Given the description of an element on the screen output the (x, y) to click on. 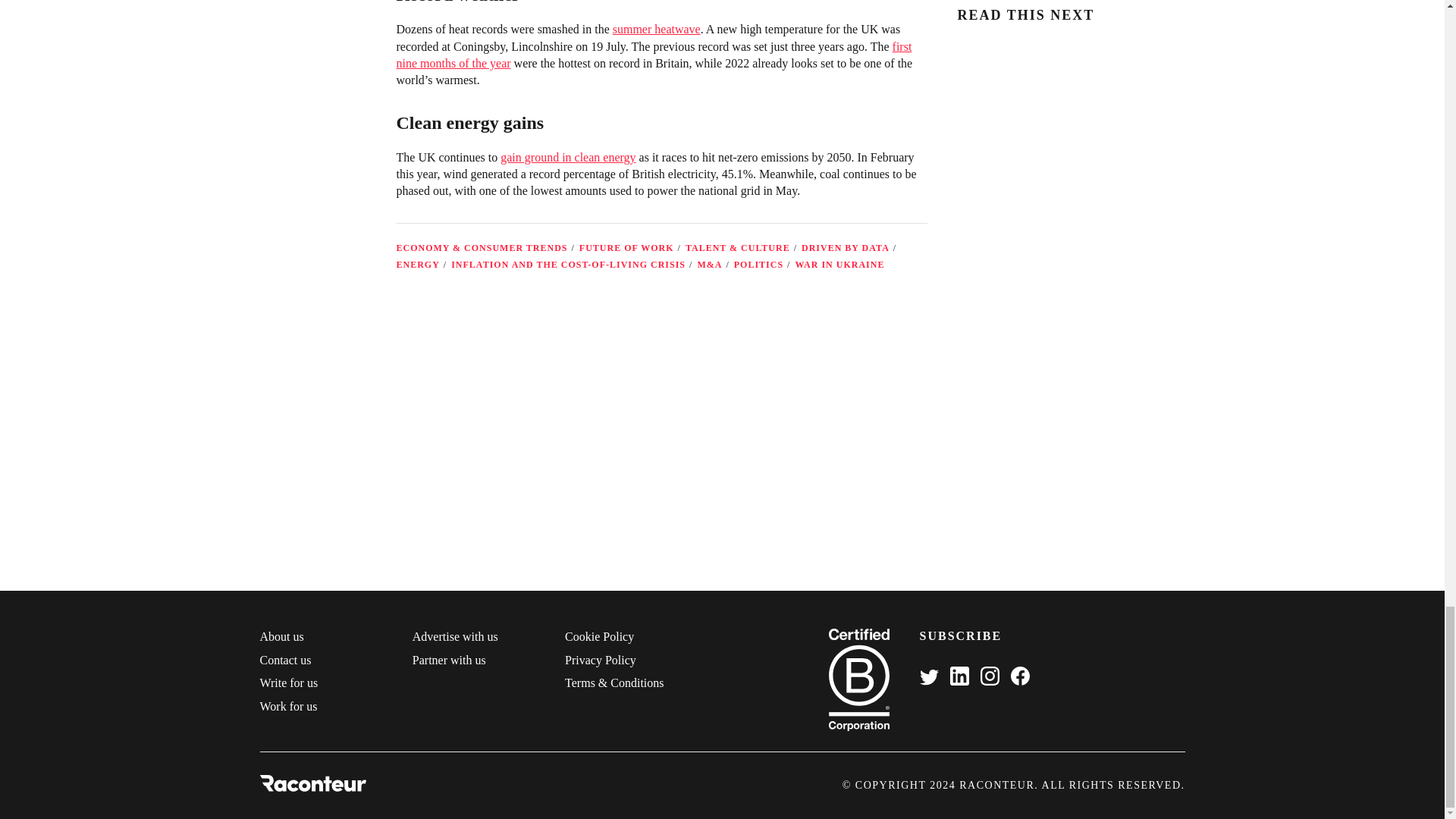
eatwave (680, 29)
summer h (636, 29)
gain ground in clean energy (567, 156)
first nine months of the year (653, 54)
FUTURE OF WORK (626, 247)
